Given the description of an element on the screen output the (x, y) to click on. 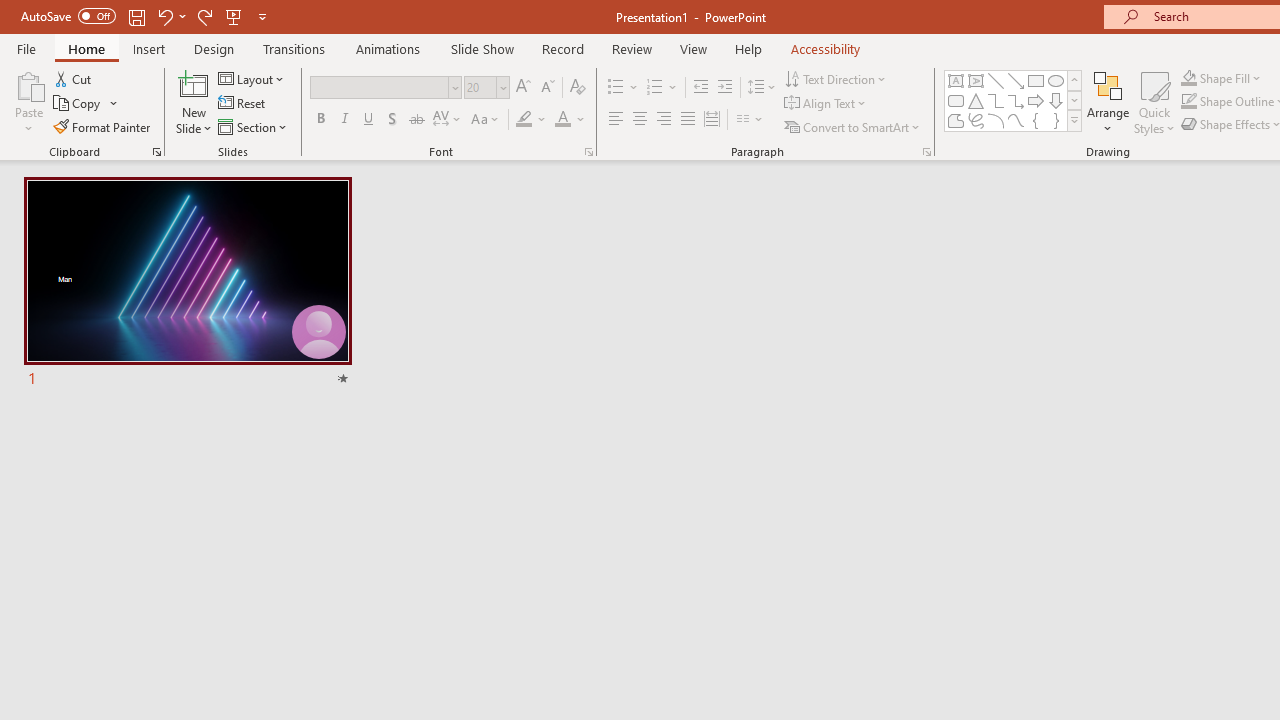
Underline (369, 119)
Align Left (616, 119)
Rectangle: Rounded Corners (955, 100)
Change Case (486, 119)
Isosceles Triangle (975, 100)
Bold (320, 119)
Arrow: Right (1035, 100)
Center (639, 119)
Align Right (663, 119)
